Given the description of an element on the screen output the (x, y) to click on. 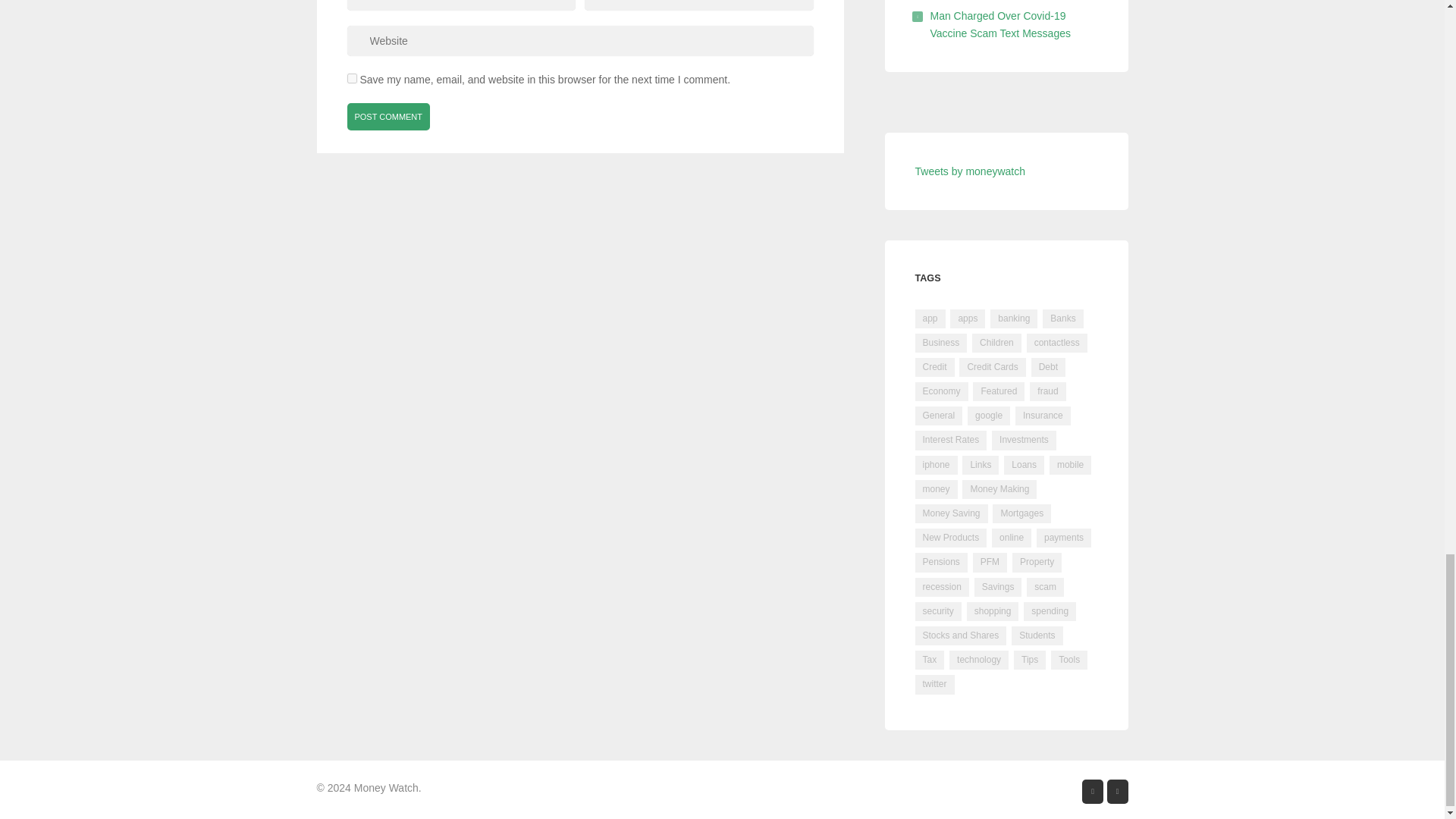
yes (351, 78)
Post Comment (388, 116)
Post Comment (388, 116)
